Given the description of an element on the screen output the (x, y) to click on. 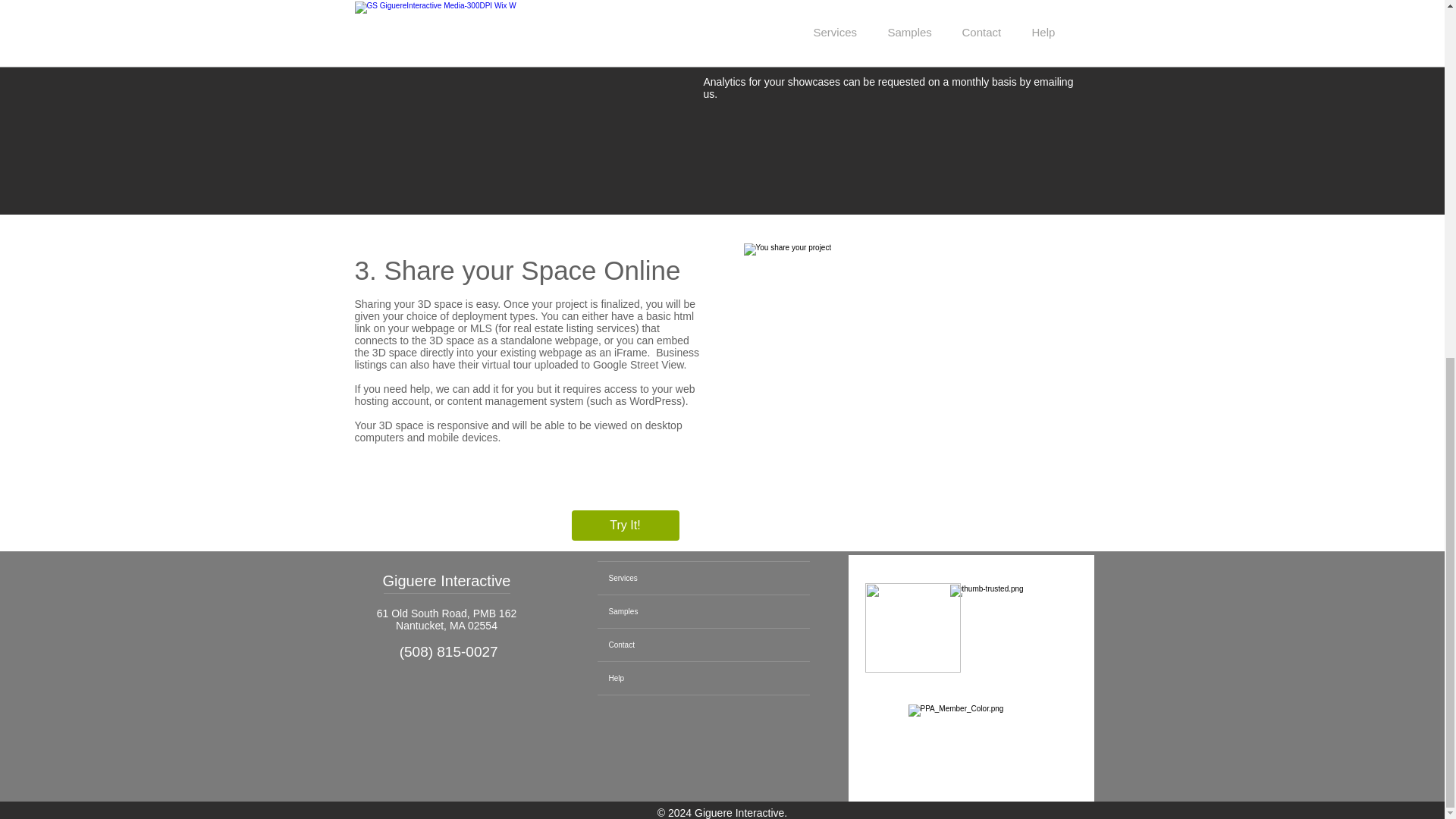
Contact (702, 644)
Samples (702, 611)
Help (702, 677)
Try It! (625, 525)
